Given the description of an element on the screen output the (x, y) to click on. 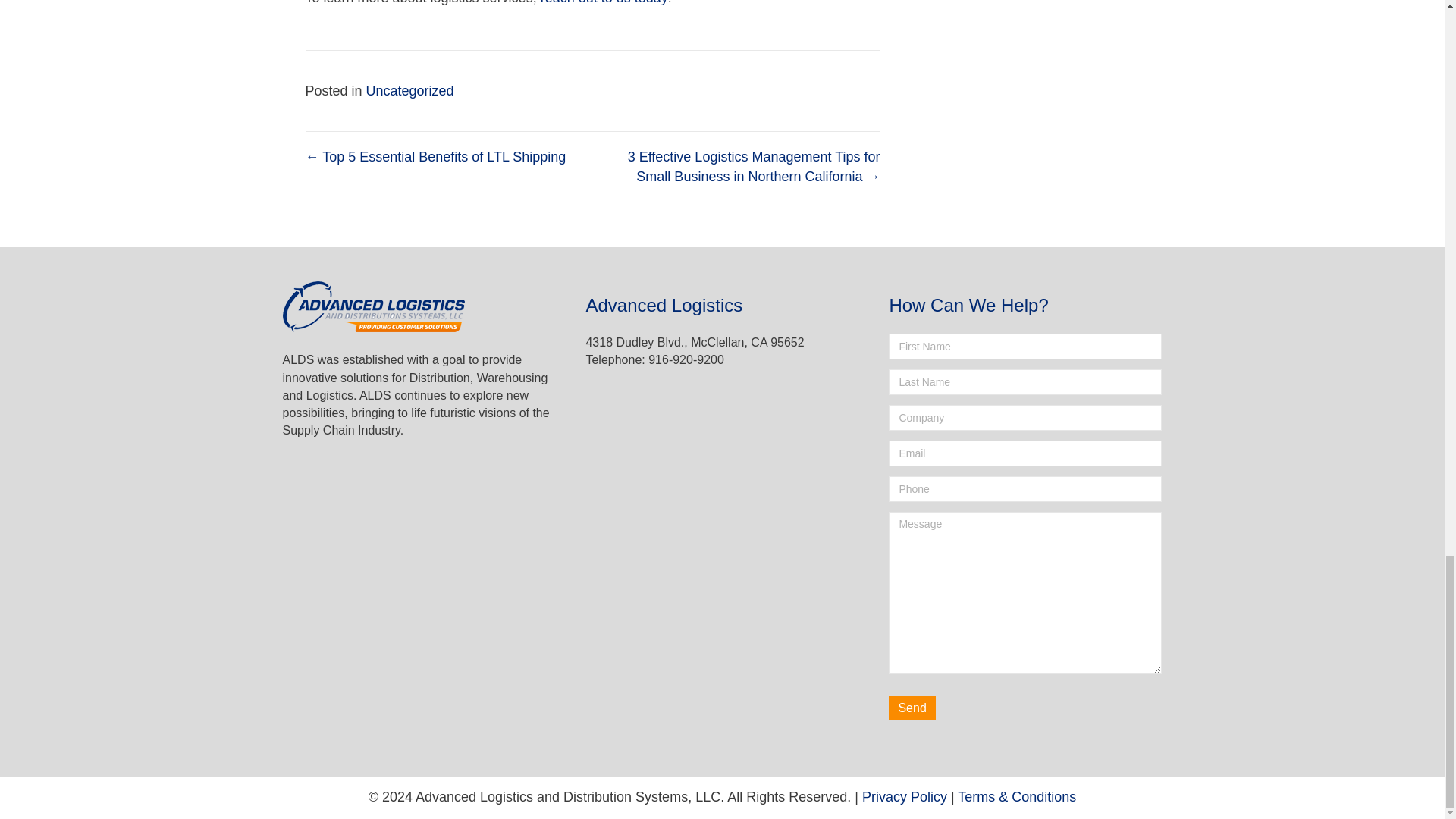
Privacy Policy (904, 796)
reach out to us today (604, 2)
ADVLOG2 (373, 306)
Uncategorized (410, 90)
Send (911, 707)
Send (911, 707)
